Given the description of an element on the screen output the (x, y) to click on. 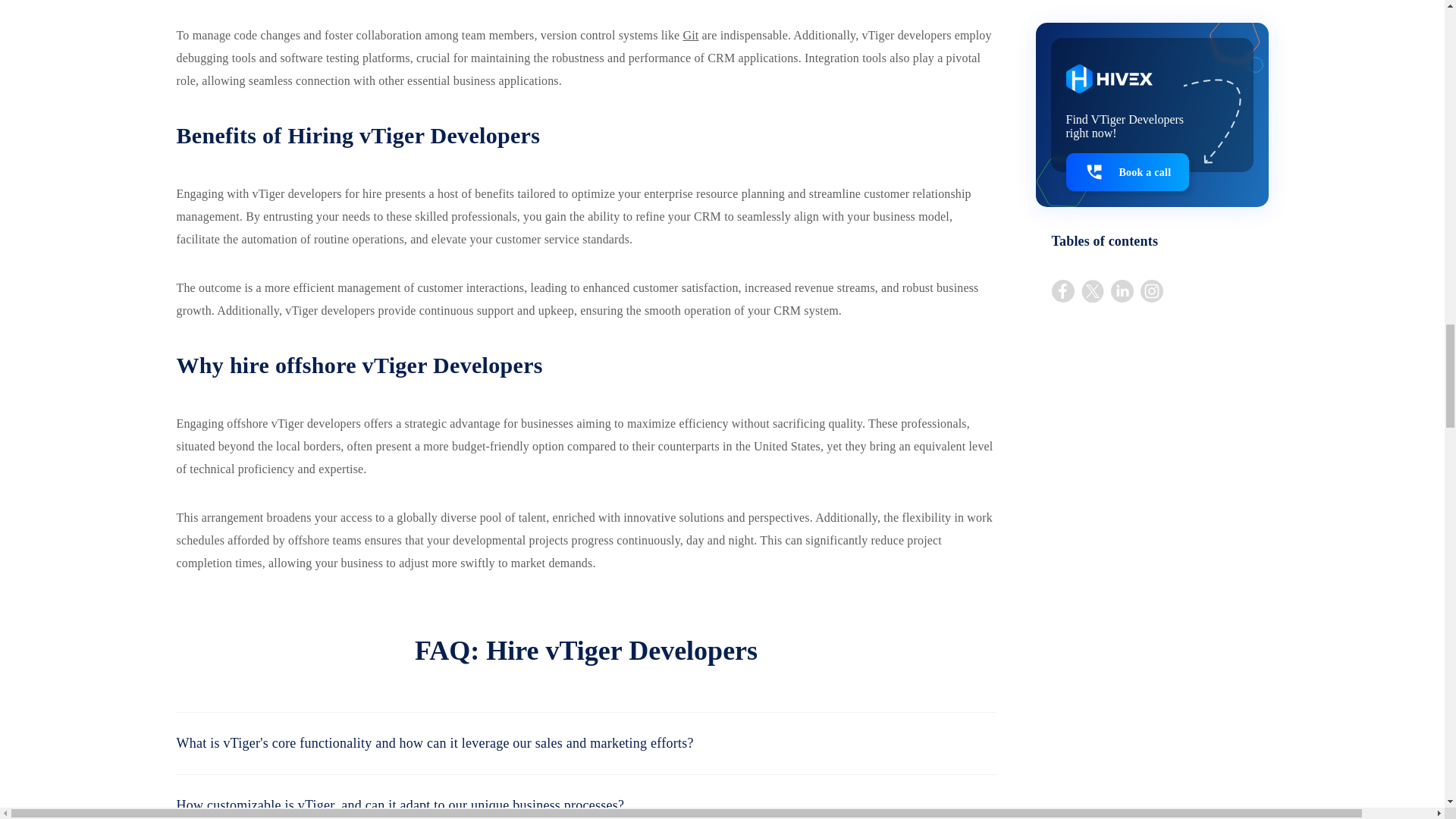
Git (690, 34)
